Given the description of an element on the screen output the (x, y) to click on. 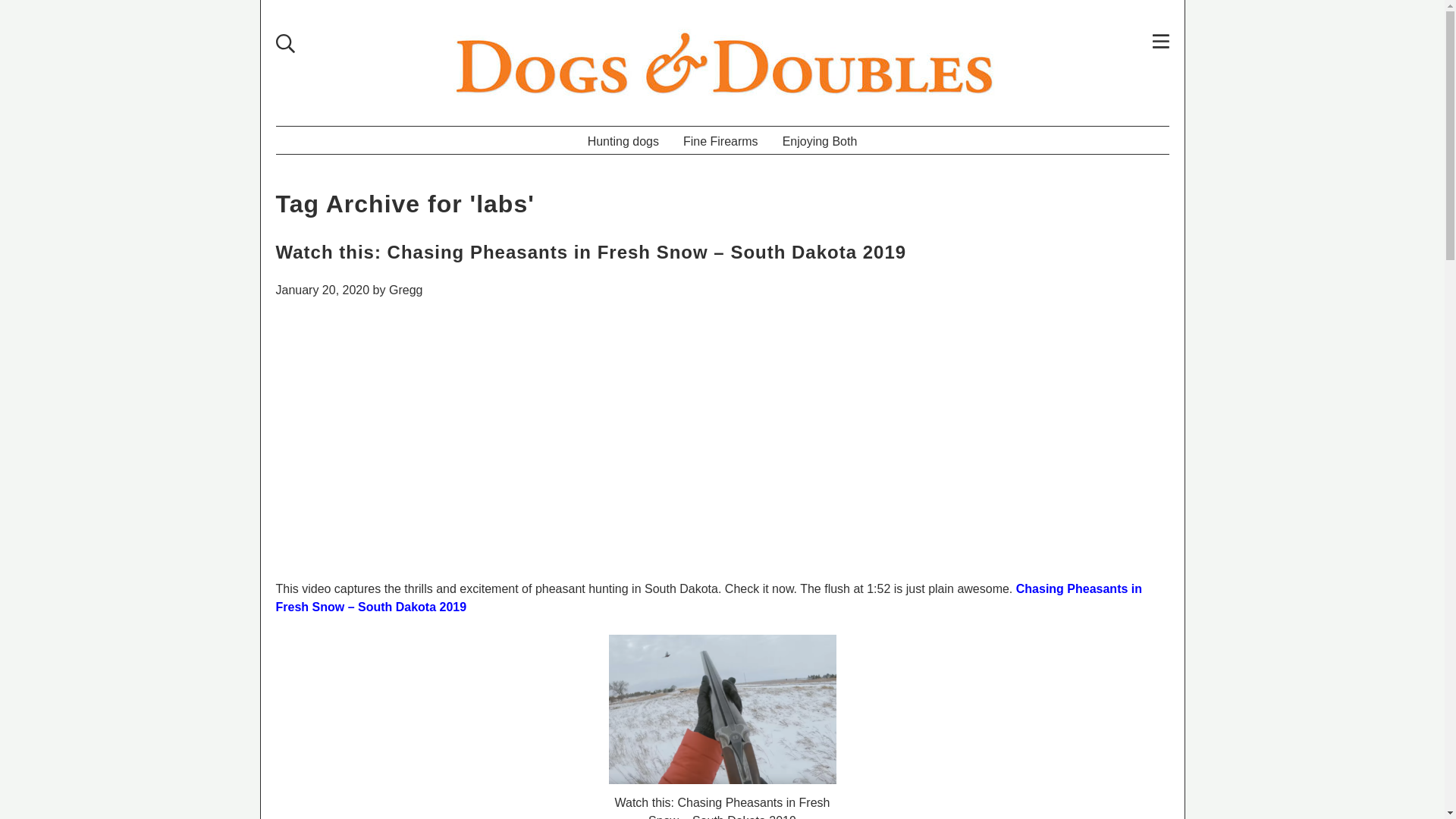
Gregg (405, 289)
Fine Firearms (720, 139)
Hunting dogs (623, 139)
Enjoying Both (819, 139)
